Given the description of an element on the screen output the (x, y) to click on. 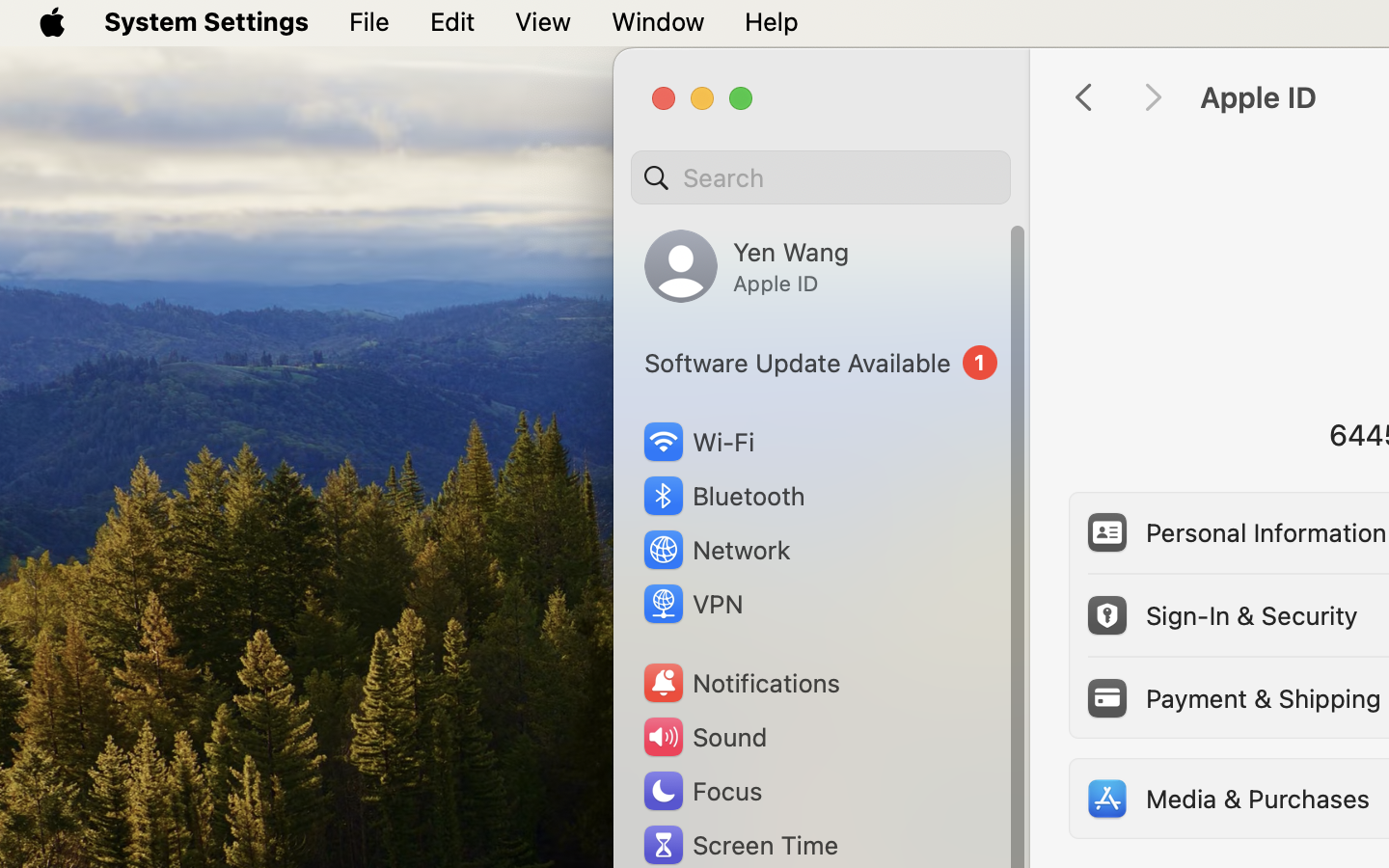
Network Element type: AXStaticText (715, 549)
Yen Wang, Apple ID Element type: AXStaticText (746, 265)
1 Element type: AXStaticText (820, 362)
Notifications Element type: AXStaticText (740, 682)
VPN Element type: AXStaticText (691, 603)
